Given the description of an element on the screen output the (x, y) to click on. 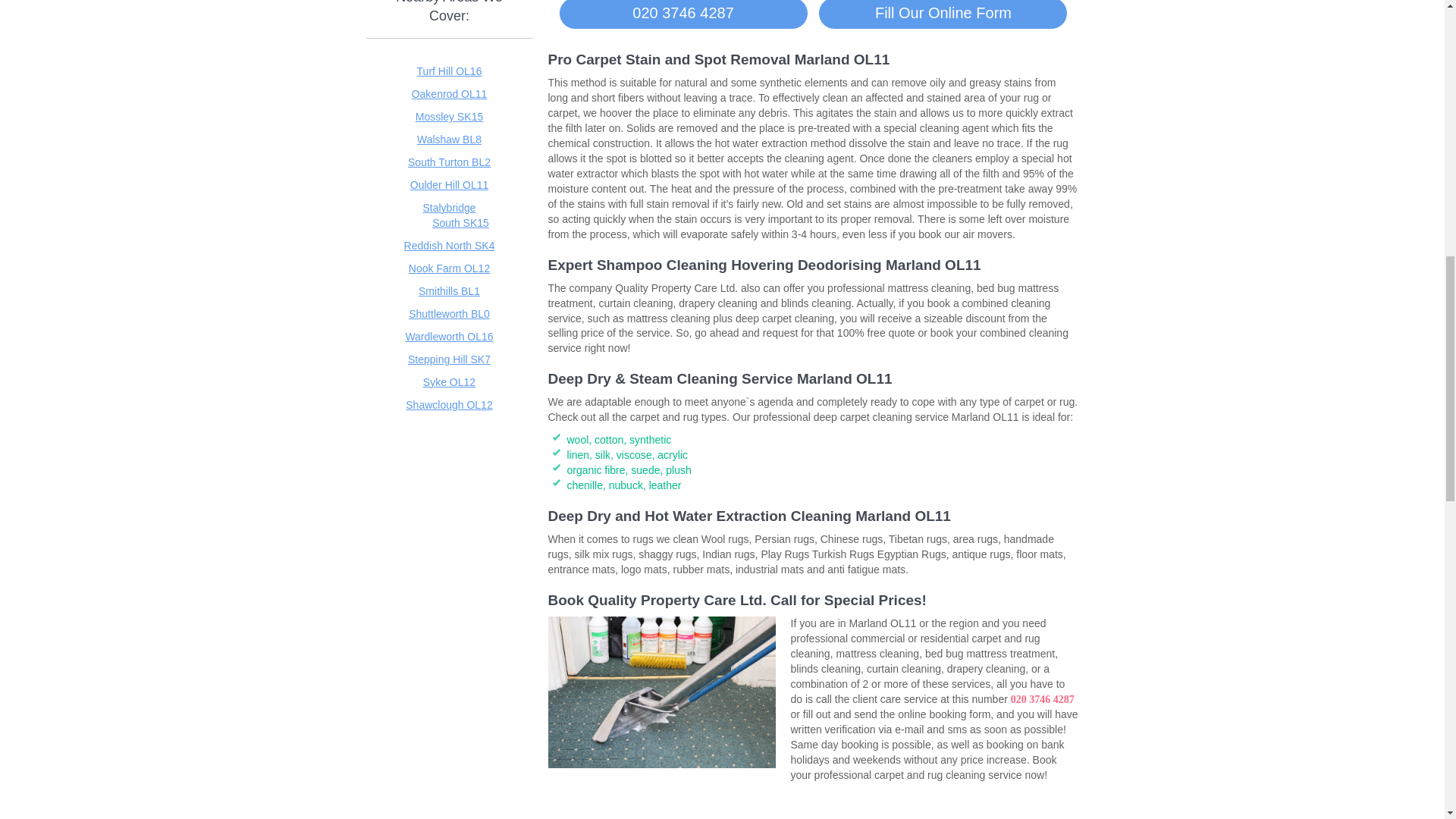
Turf Hill OL16 (449, 71)
Fill Our Online Form (942, 14)
020 3746 4287 (1042, 698)
020 3746 4287 (683, 14)
